Given the description of an element on the screen output the (x, y) to click on. 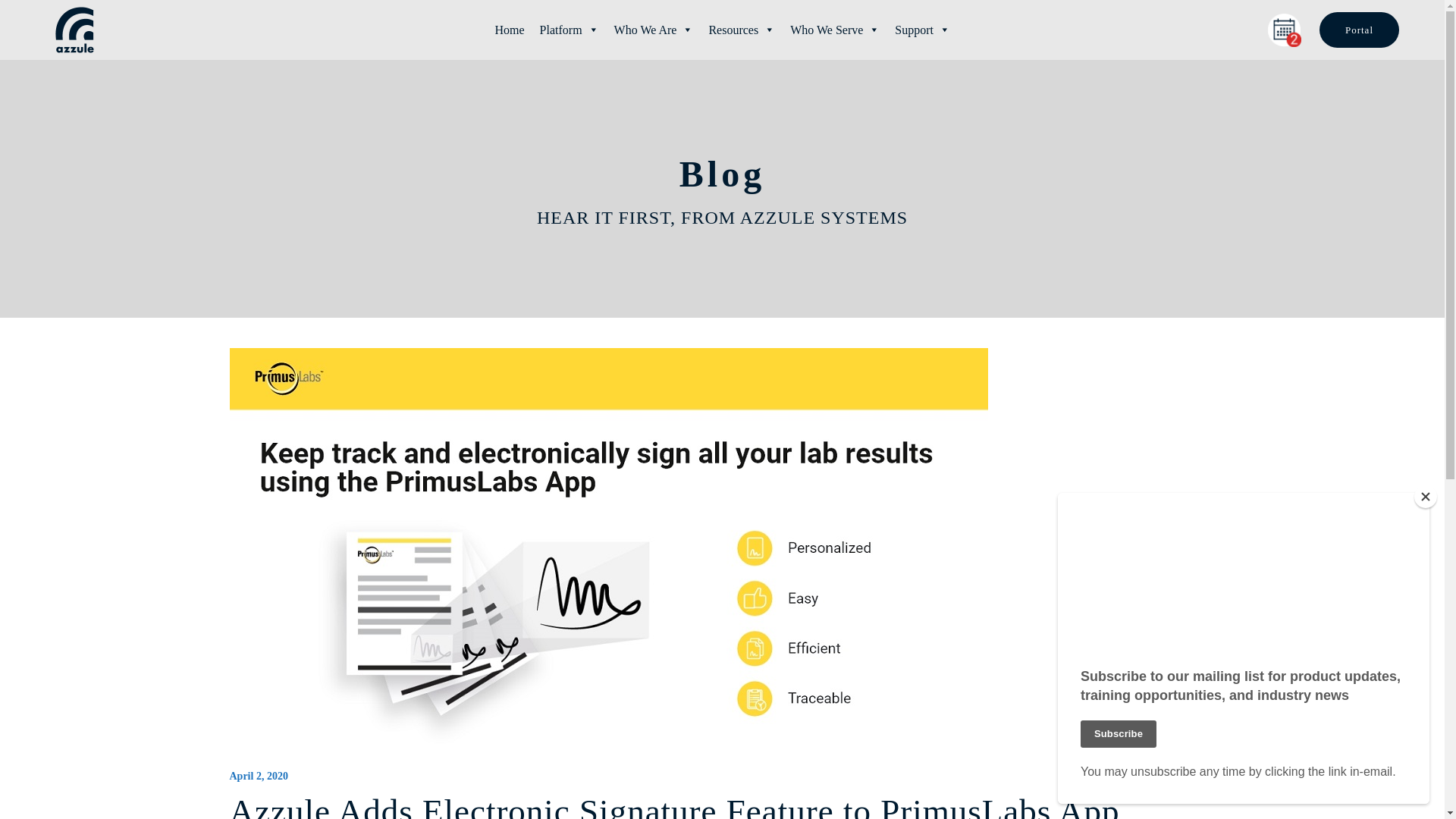
Who We Are (654, 29)
Platform (569, 29)
